Given the description of an element on the screen output the (x, y) to click on. 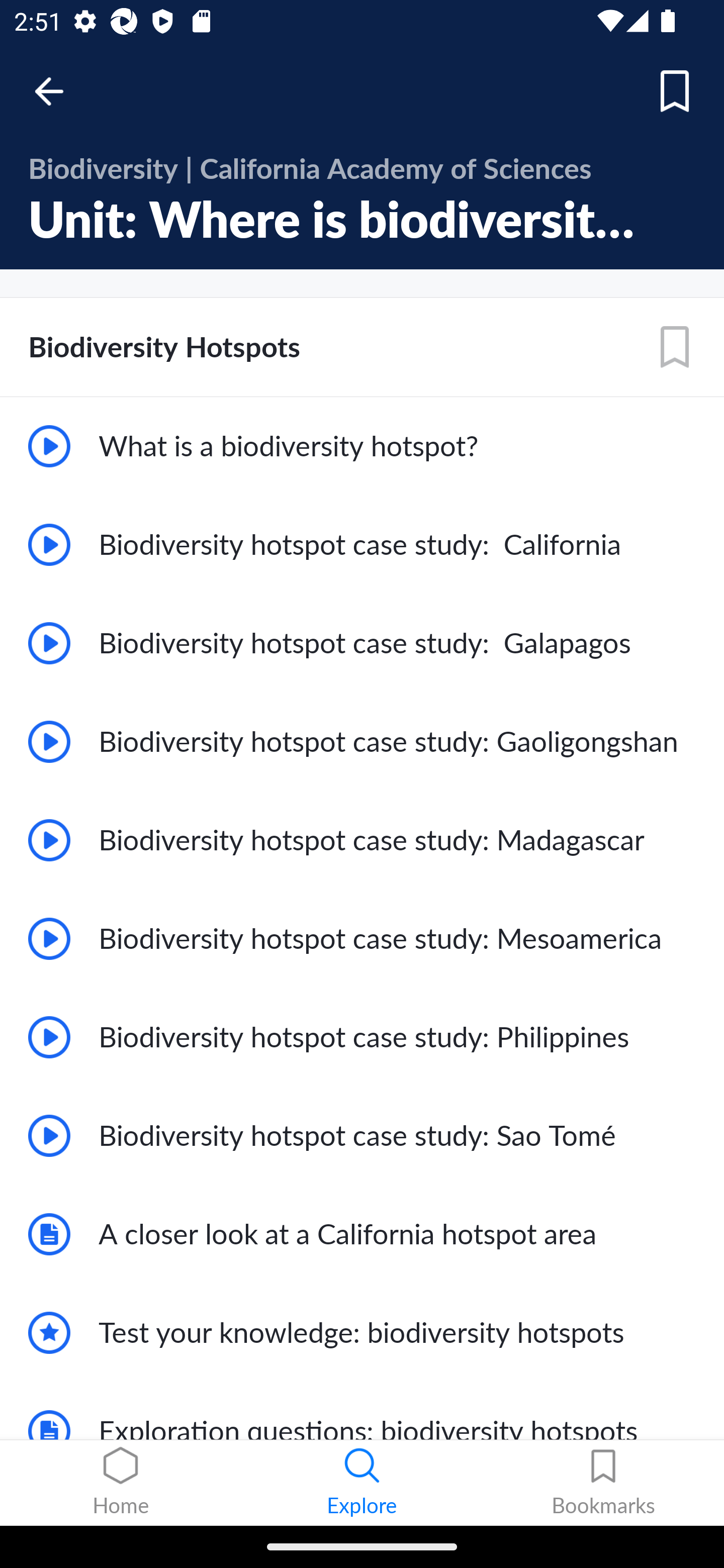
Back (58, 91)
Add Bookmark (674, 91)
Add Bookmark (674, 347)
What is a biodiversity hotspot? (362, 445)
Biodiversity hotspot case study:  California (362, 544)
Biodiversity hotspot case study:  Galapagos (362, 643)
Biodiversity hotspot case study: Gaoligongshan (362, 741)
Biodiversity hotspot case study: Madagascar (362, 839)
Biodiversity hotspot case study: Mesoamerica (362, 938)
Biodiversity hotspot case study: Philippines (362, 1036)
Biodiversity hotspot case study: Sao Tomé (362, 1135)
A closer look at a California hotspot area (362, 1234)
Test your knowledge: biodiversity hotspots (362, 1332)
Home (120, 1482)
Explore (361, 1482)
Bookmarks (603, 1482)
